Given the description of an element on the screen output the (x, y) to click on. 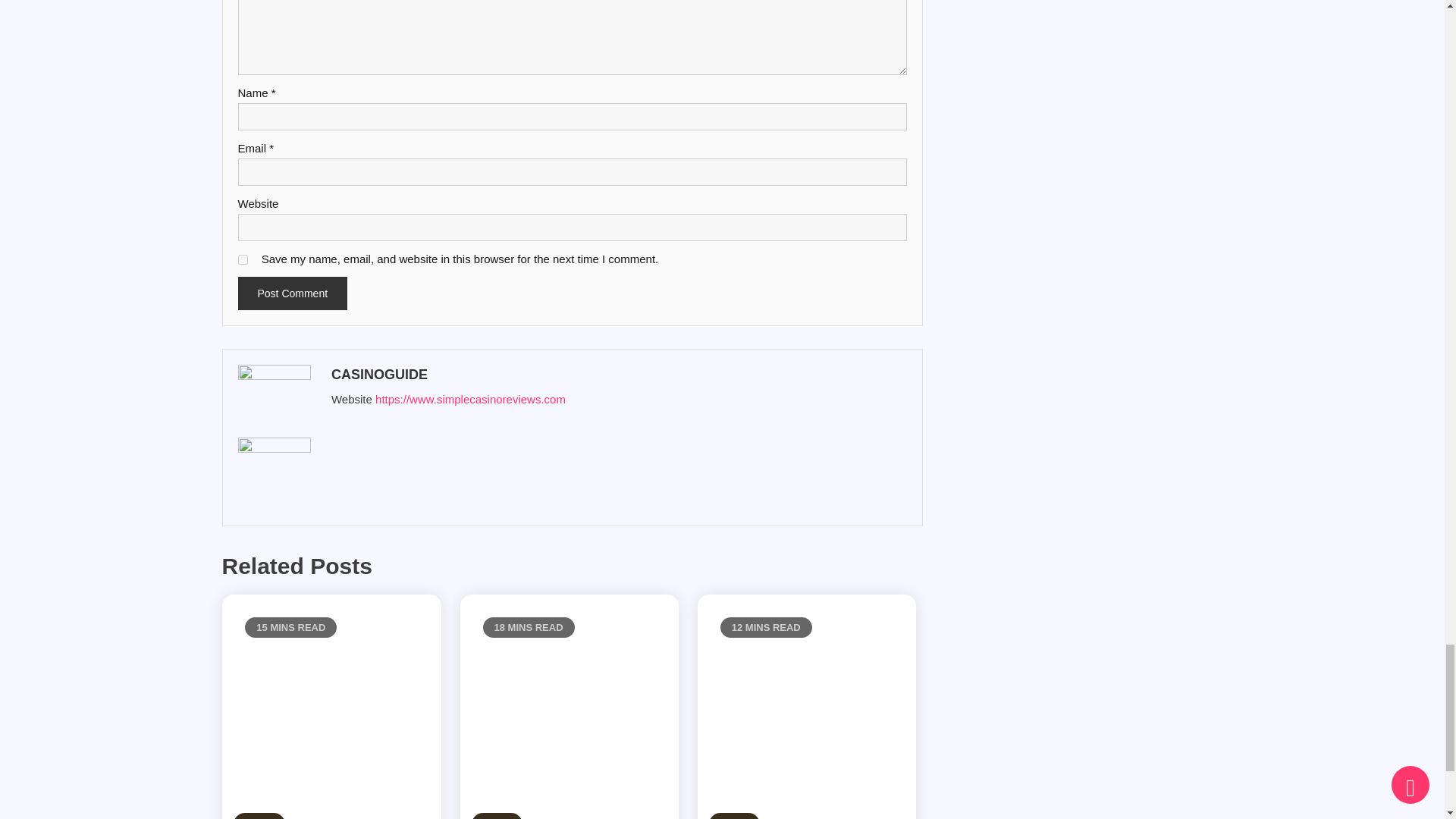
Posts by casinoguide (615, 374)
yes (242, 259)
Post Comment (292, 293)
